Given the description of an element on the screen output the (x, y) to click on. 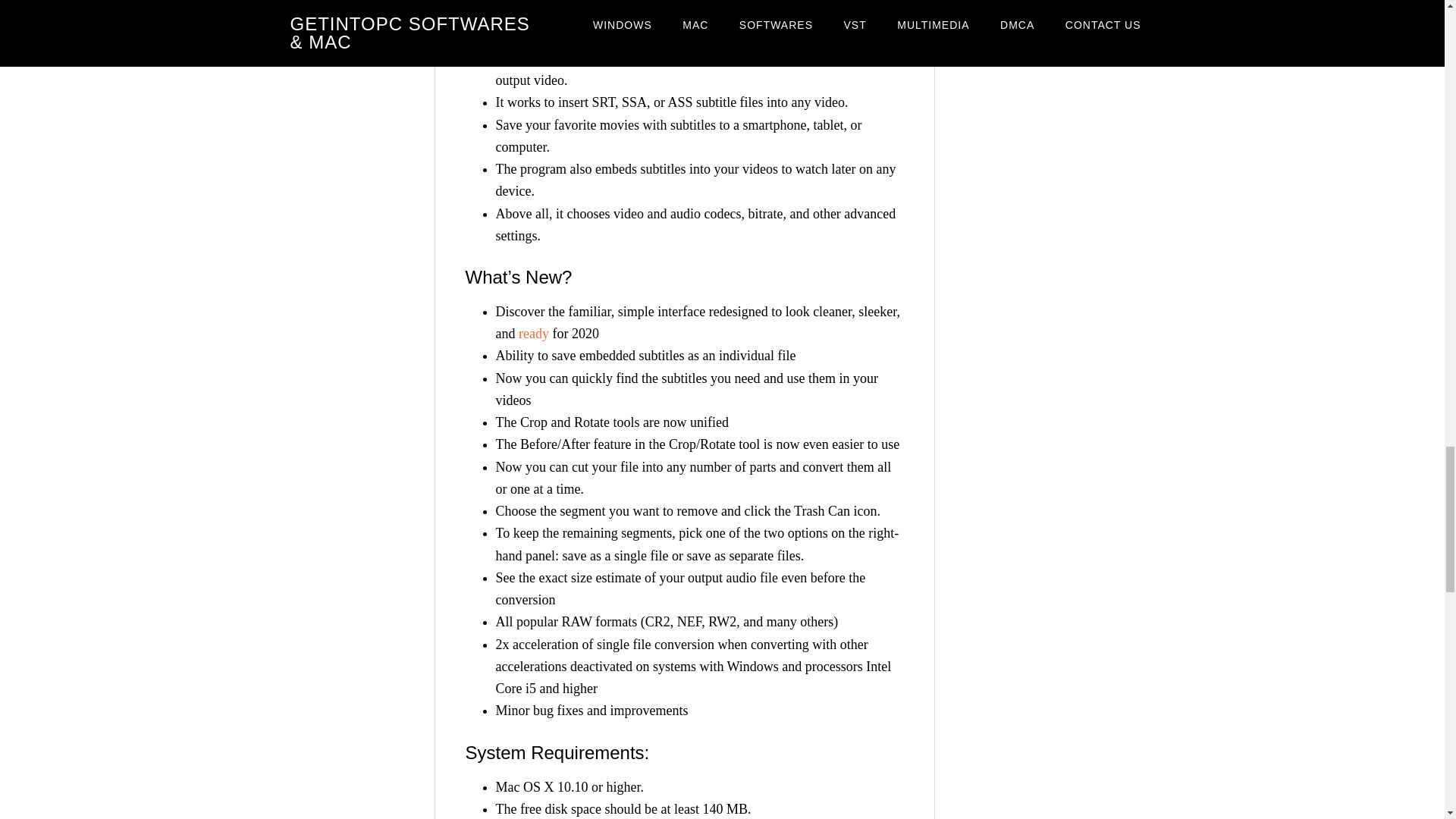
converted (564, 13)
ready (533, 333)
